Given the description of an element on the screen output the (x, y) to click on. 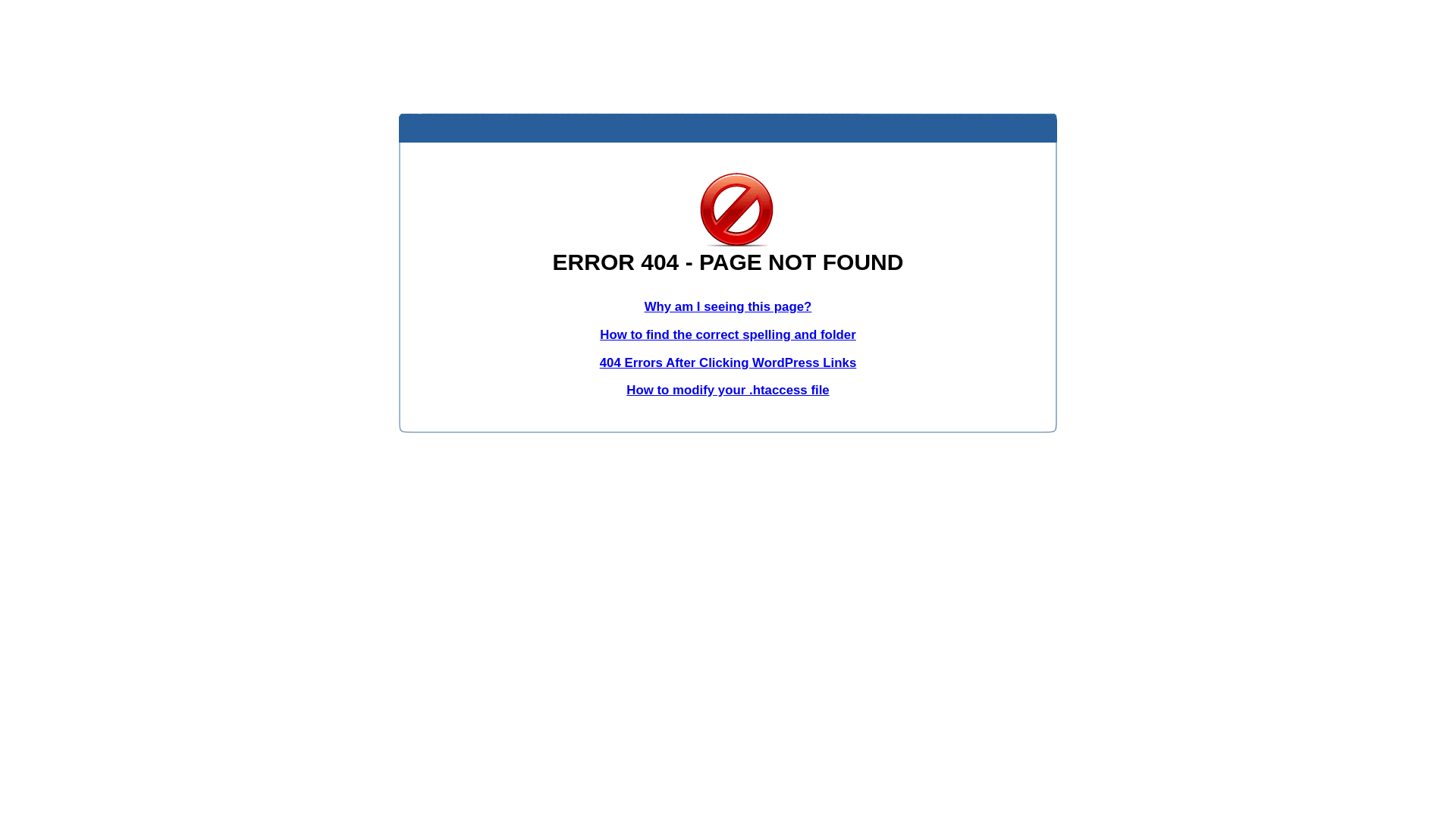
Why am I seeing this page? Element type: text (728, 306)
404 Errors After Clicking WordPress Links Element type: text (727, 362)
How to find the correct spelling and folder Element type: text (727, 334)
How to modify your .htaccess file Element type: text (727, 389)
